Given the description of an element on the screen output the (x, y) to click on. 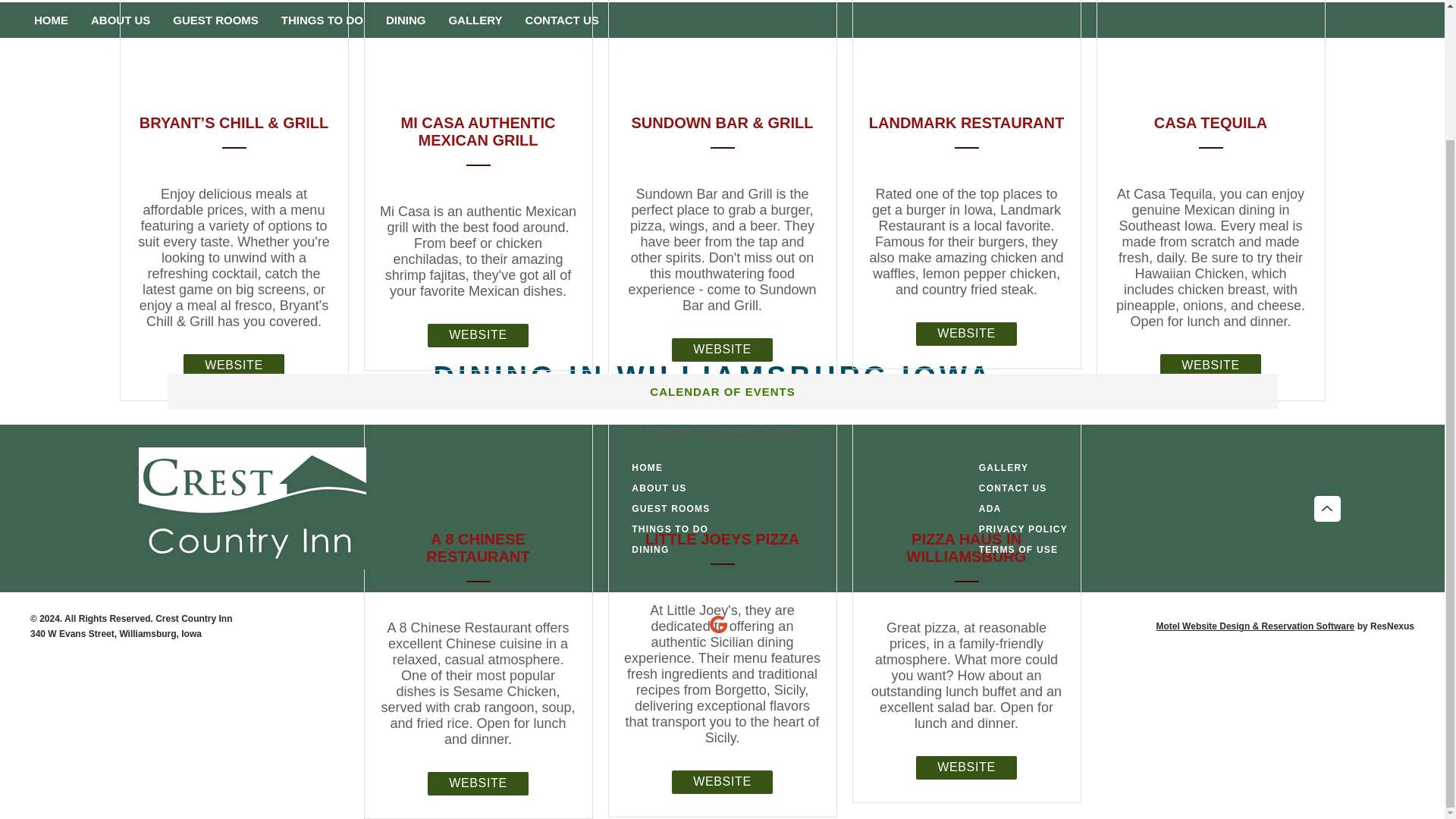
ABOUT US (120, 19)
CONTACT US (561, 19)
PRIVACY POLICY (1022, 528)
MI CASA AUTHENTIC MEXICAN GRILL (477, 131)
CASA TEQUILA (1209, 122)
WEBSITE (722, 349)
GALLERY (474, 19)
THINGS TO DO (321, 19)
WEBSITE (722, 781)
GALLERY (1002, 467)
